Given the description of an element on the screen output the (x, y) to click on. 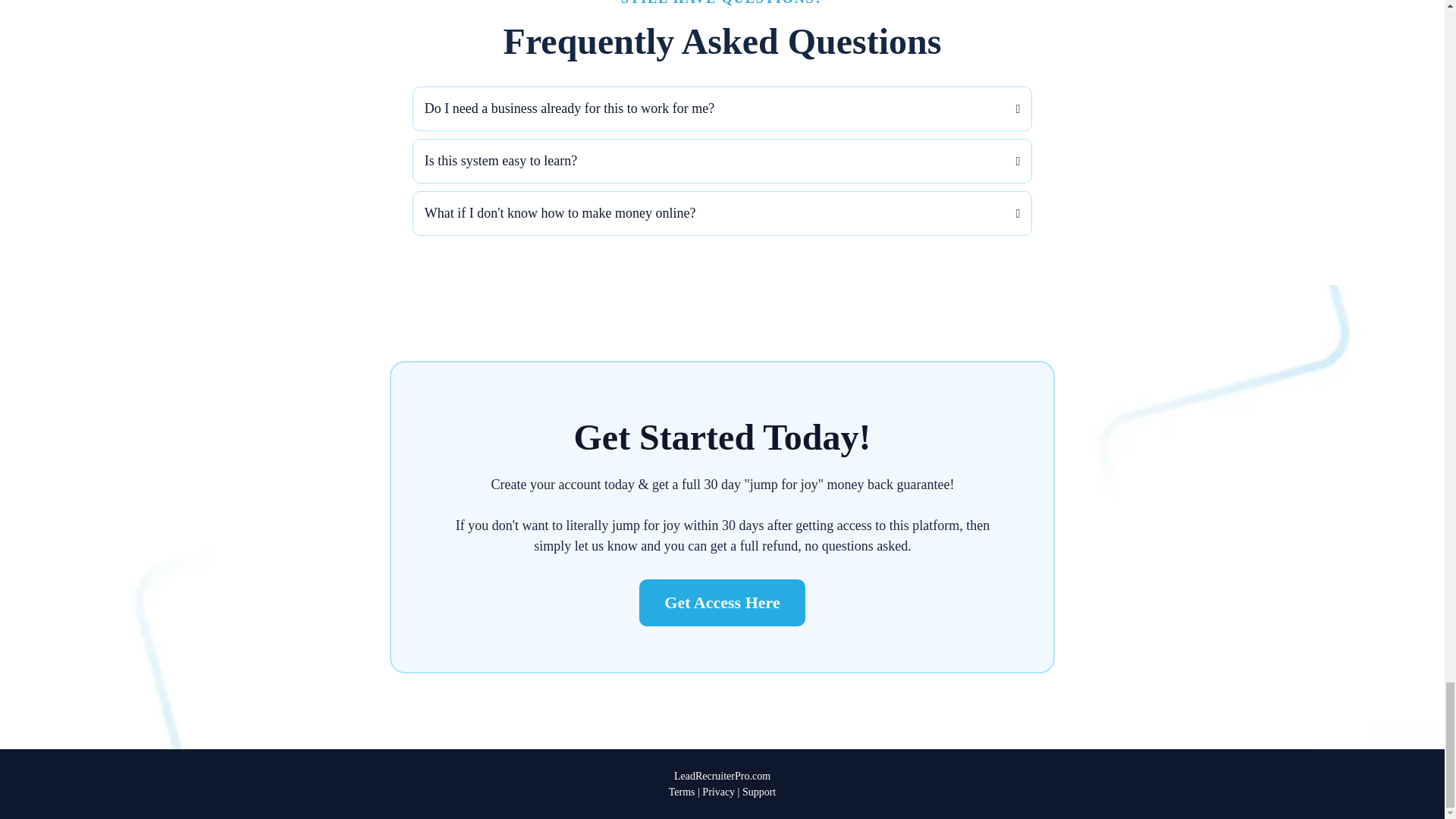
Get Access Here (722, 602)
Support (759, 791)
Terms (681, 791)
Privacy (718, 791)
